Given the description of an element on the screen output the (x, y) to click on. 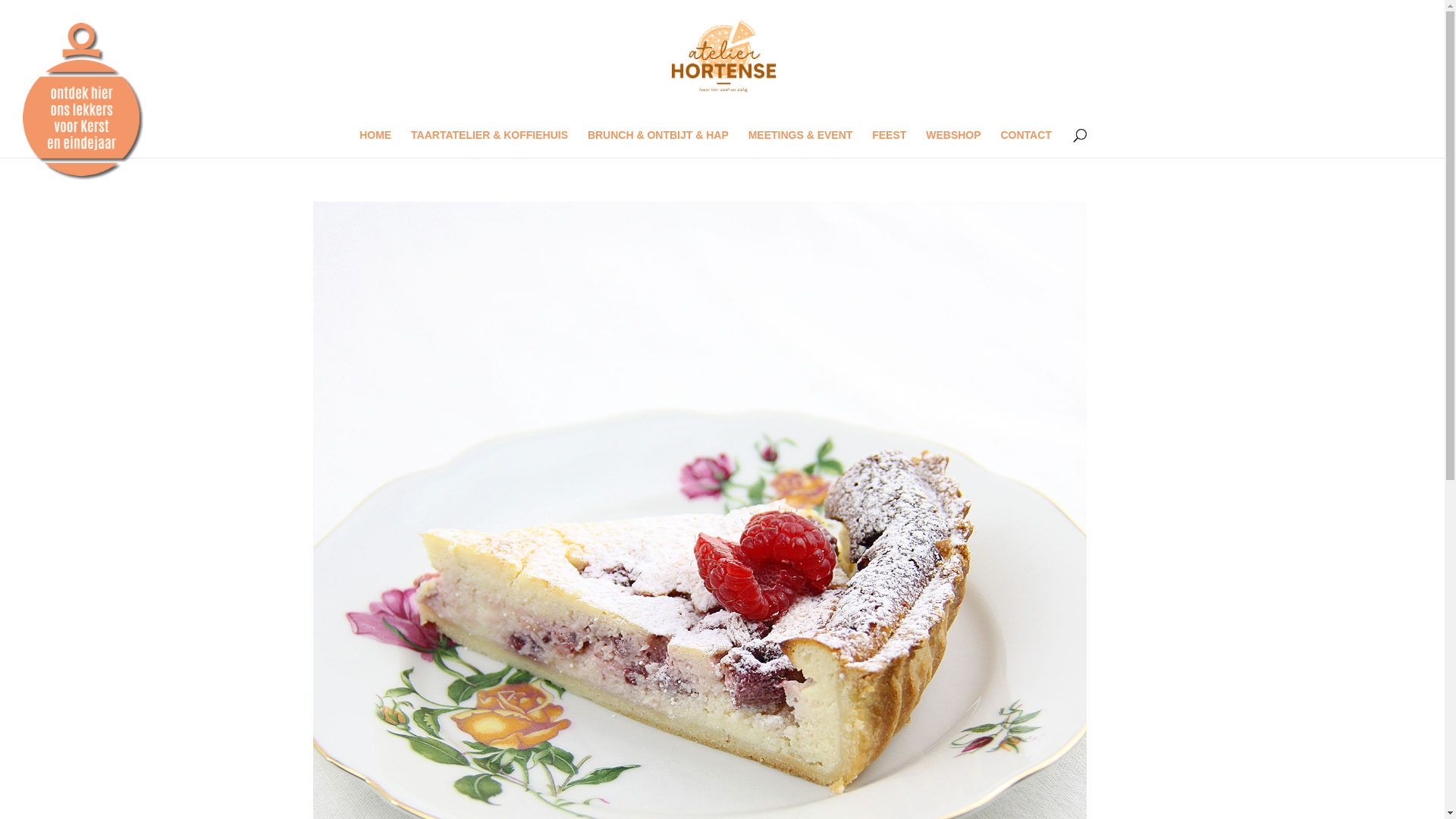
TAARTATELIER & KOFFIEHUIS Element type: text (489, 143)
CONTACT Element type: text (1025, 143)
WEBSHOP Element type: text (952, 143)
HOME Element type: text (375, 143)
FEEST Element type: text (889, 143)
BRUNCH & ONTBIJT & HAP Element type: text (657, 143)
MEETINGS & EVENT Element type: text (800, 143)
